Given the description of an element on the screen output the (x, y) to click on. 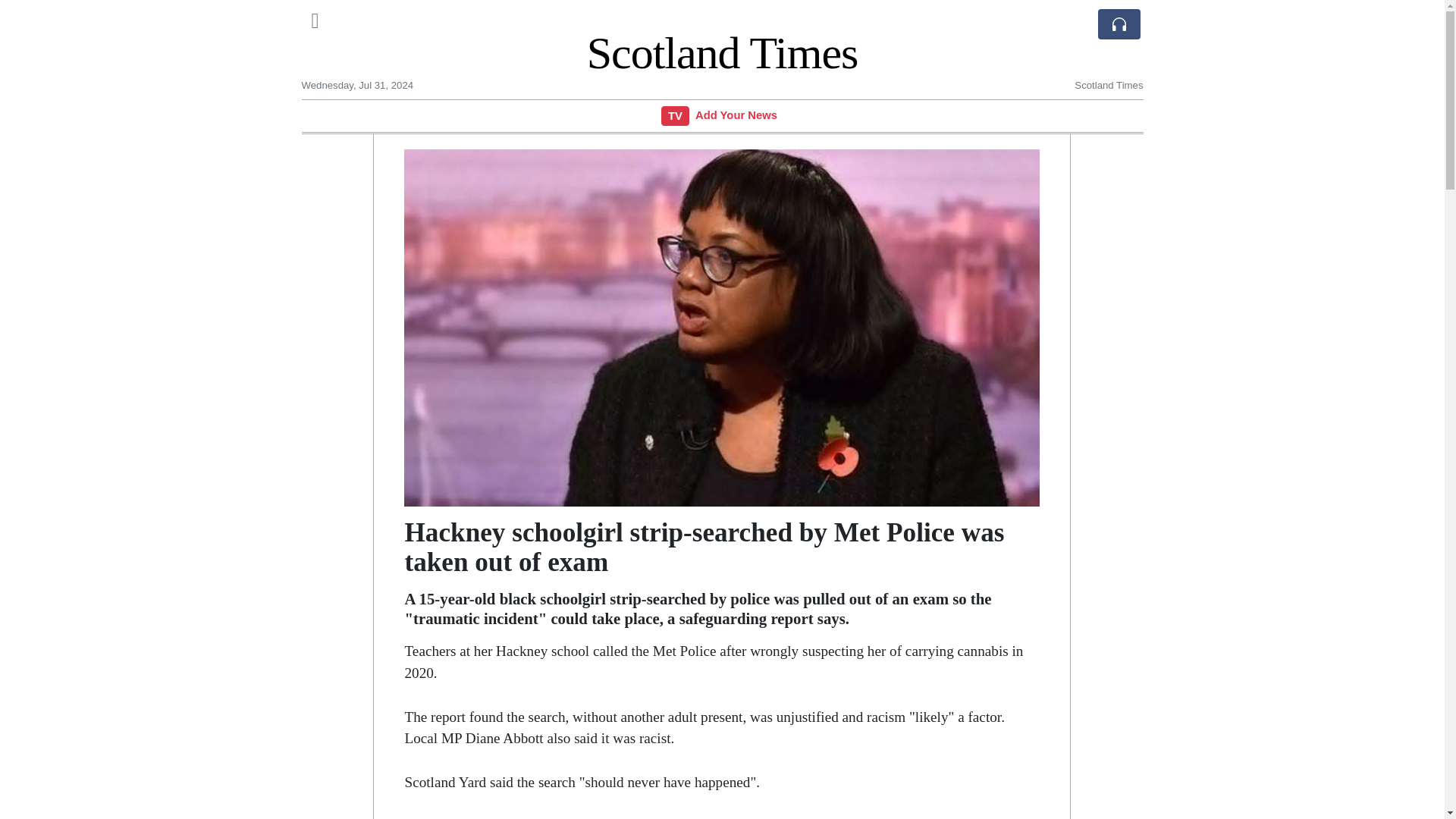
Scotland Times (722, 52)
TV (675, 115)
Add Your News (736, 114)
